Given the description of an element on the screen output the (x, y) to click on. 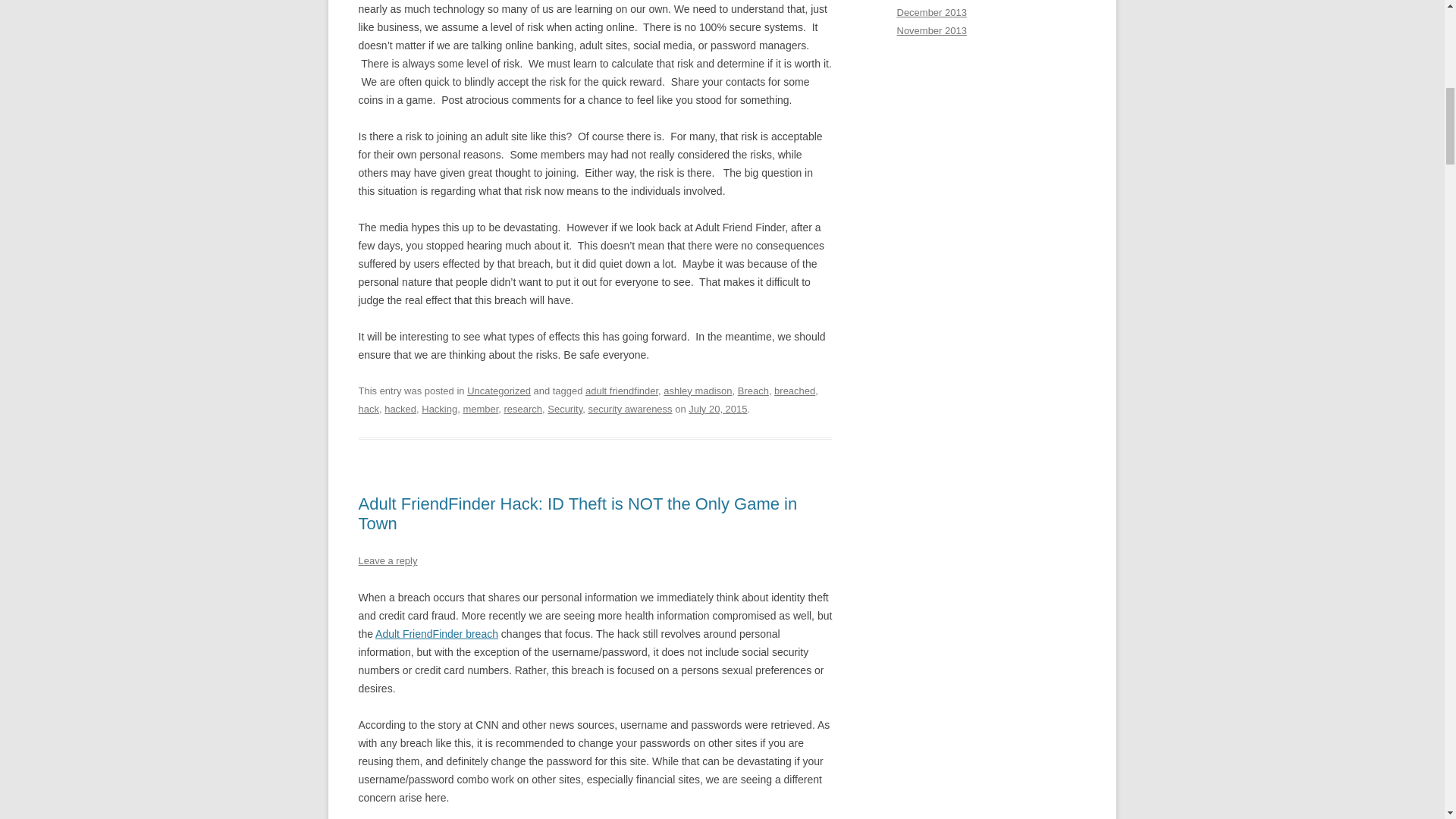
hacked (400, 408)
Adult FriendFinder breach (436, 633)
hack (368, 408)
Security (564, 408)
breached (794, 390)
security awareness (629, 408)
adult friendfinder (621, 390)
Hacking (439, 408)
10:28 pm (717, 408)
Breach (753, 390)
Leave a reply (387, 560)
research (523, 408)
ashley madison (697, 390)
Uncategorized (499, 390)
